Given the description of an element on the screen output the (x, y) to click on. 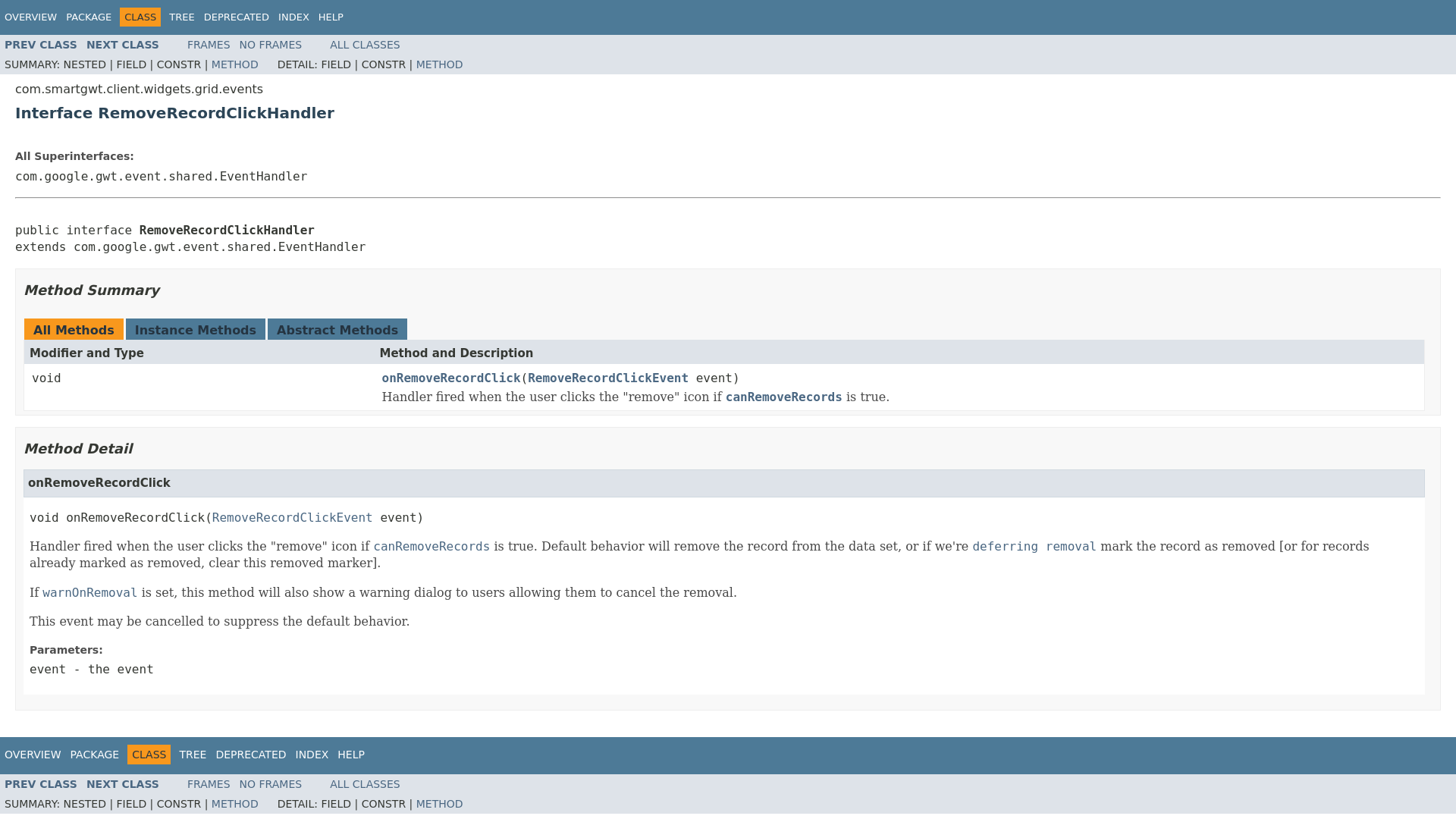
FRAMES (208, 44)
PACKAGE (88, 16)
DEPRECATED (236, 16)
DEPRECATED (250, 754)
Interface RemoveRecordClickHandler (727, 113)
RemoveRecordClickEvent (292, 517)
Navigation (184, 754)
warnOnRemoval (89, 592)
OVERVIEW (32, 754)
class in com.smartgwt.client.widgets.grid.events (121, 784)
METHOD (235, 64)
NEXT CLASS (121, 784)
canRemoveRecords (784, 397)
deferring removal (1034, 545)
Navigation (173, 16)
